Given the description of an element on the screen output the (x, y) to click on. 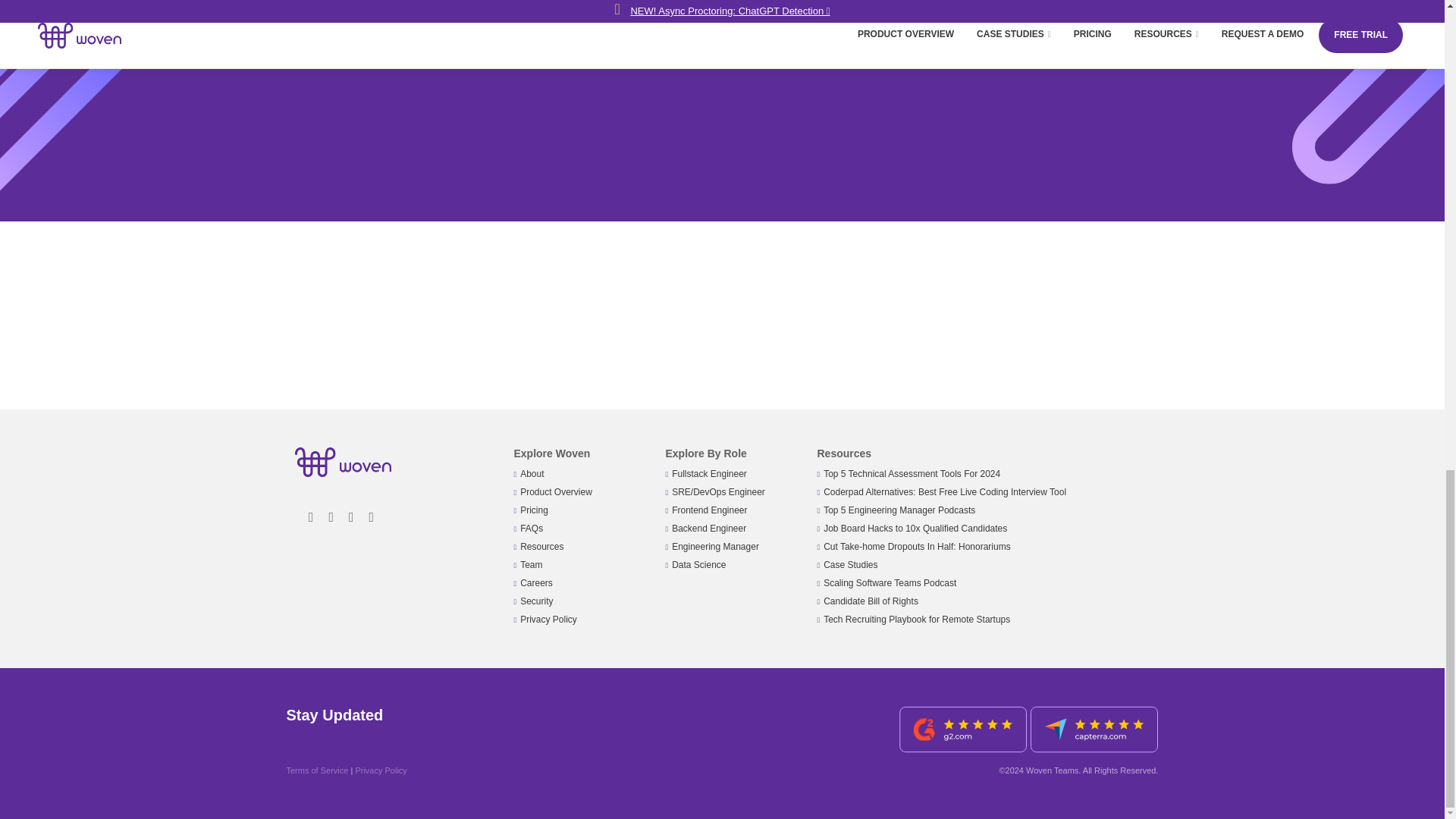
Careers (536, 583)
Resources (541, 546)
Product Overview (555, 491)
Privacy Policy (547, 619)
Security (536, 601)
Pricing (533, 510)
FAQs (531, 528)
About (531, 473)
Team (530, 564)
